Given the description of an element on the screen output the (x, y) to click on. 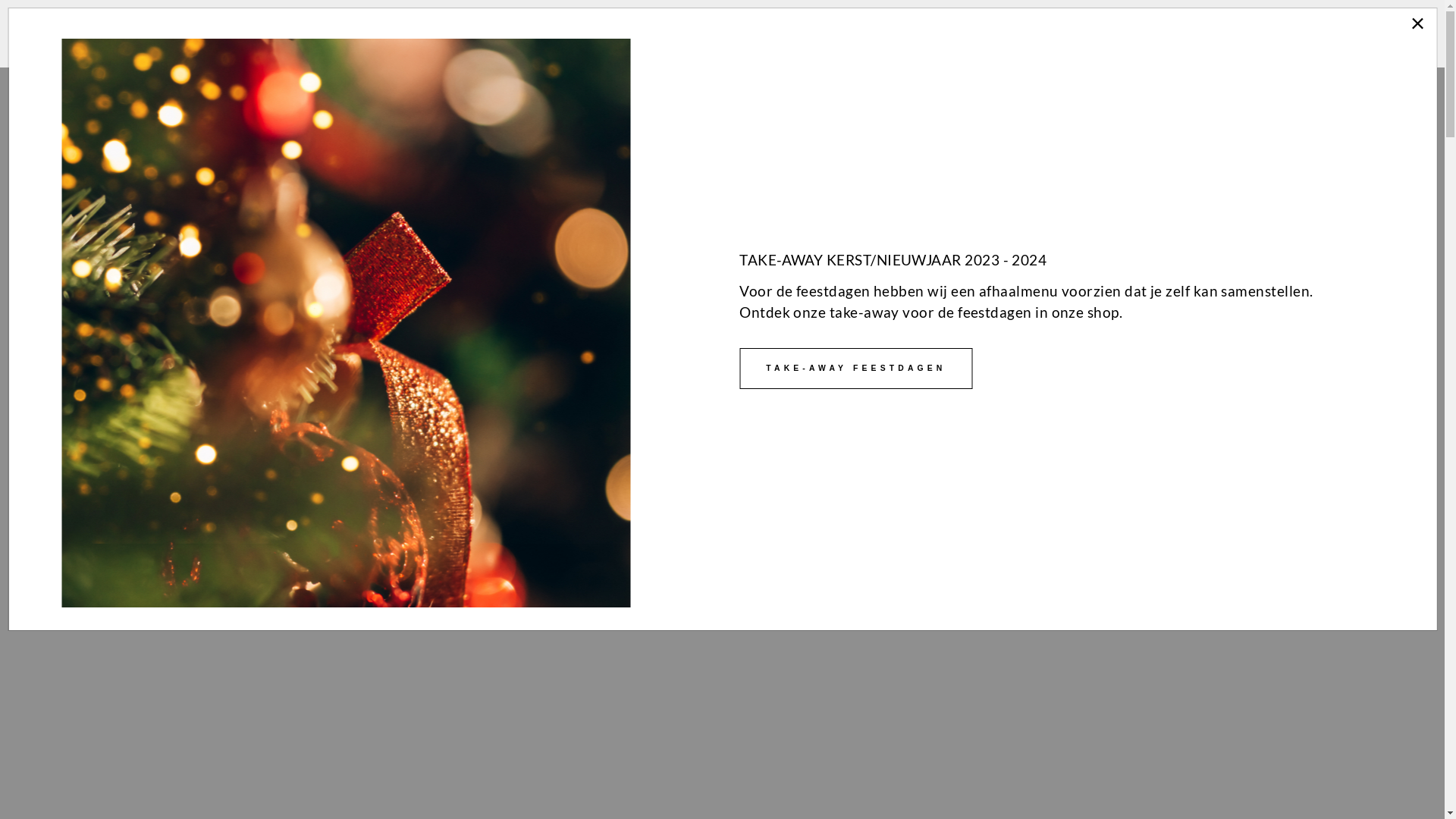
HOME Element type: text (813, 35)
CADEAUBON Element type: text (1372, 35)
KAART Element type: text (1172, 35)
TAKE-AWAY FEESTDAGEN Element type: text (855, 368)
CADEAUBON Element type: text (789, 553)
EERSTE WERKDAG Element type: text (1053, 35)
KAART Element type: text (634, 553)
CONTACT Element type: text (1260, 35)
FEESTDAGEN Element type: text (913, 35)
